Given the description of an element on the screen output the (x, y) to click on. 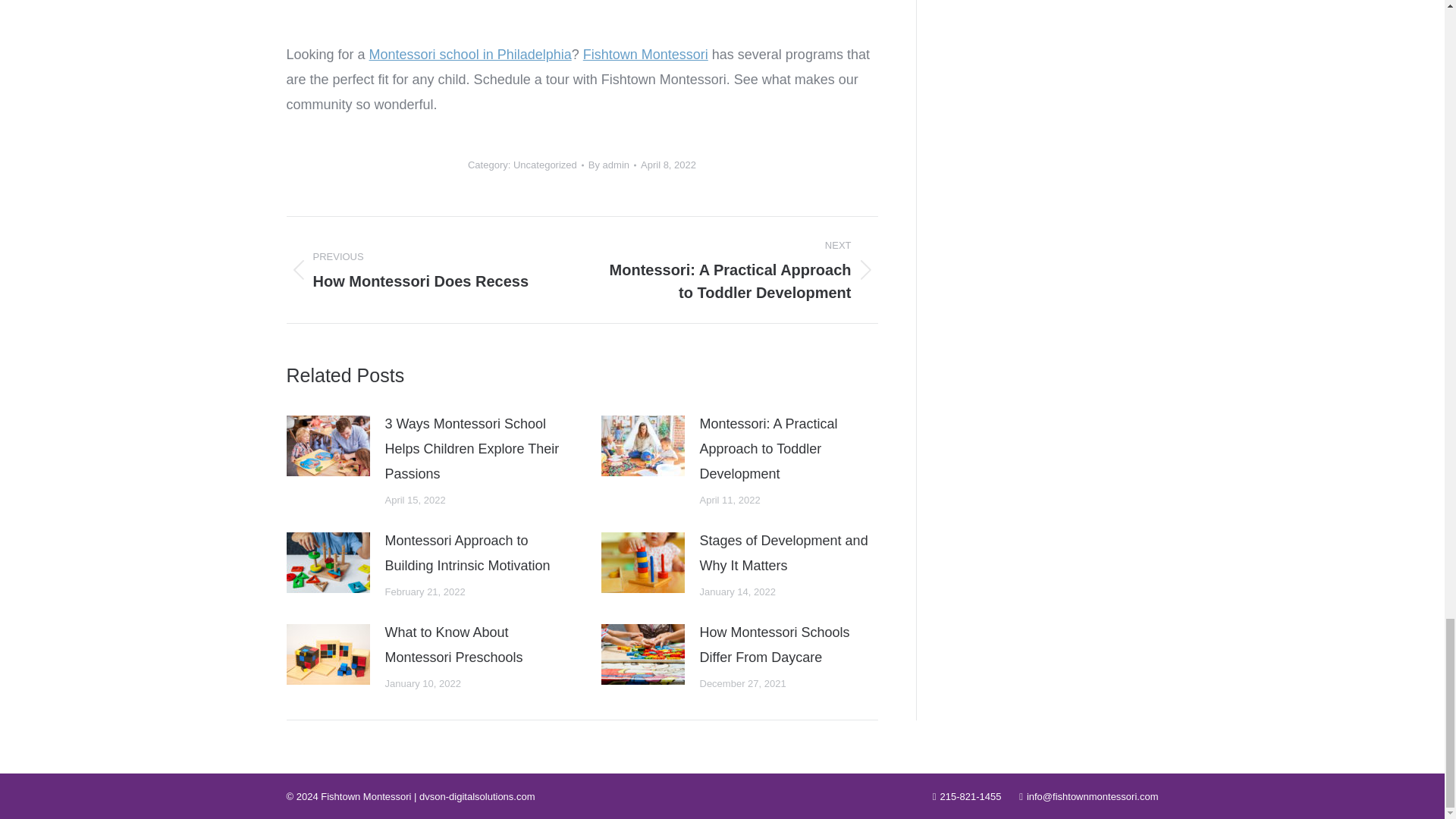
Uncategorized (544, 164)
April 8, 2022 (667, 164)
Fishtown Montessori (645, 54)
View all posts by admin (612, 164)
9:00 am (667, 164)
Montessori school in Philadelphia (470, 54)
By admin (612, 164)
